Given the description of an element on the screen output the (x, y) to click on. 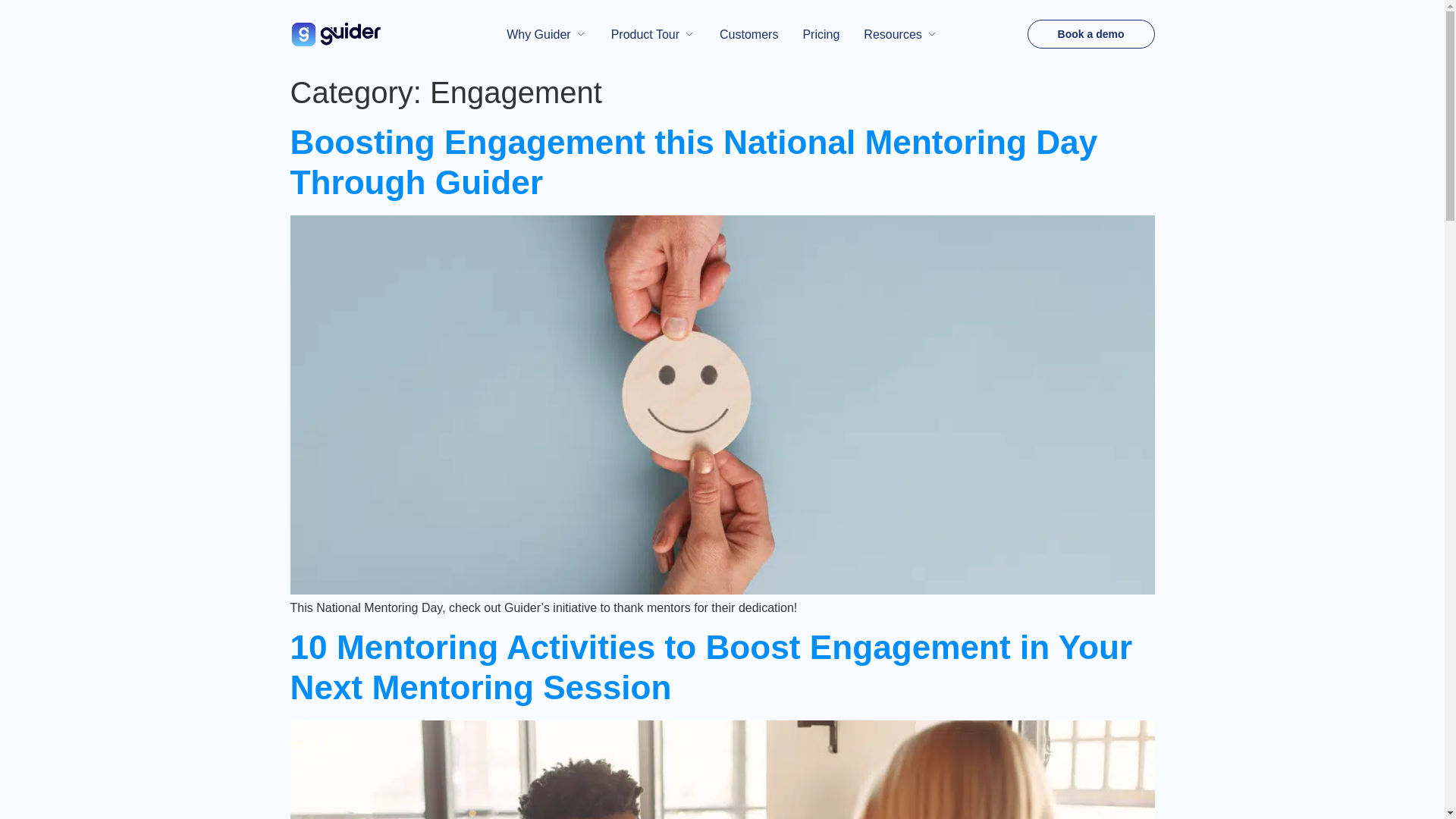
Pricing (821, 34)
Customers (748, 34)
Book a demo (1090, 33)
